Given the description of an element on the screen output the (x, y) to click on. 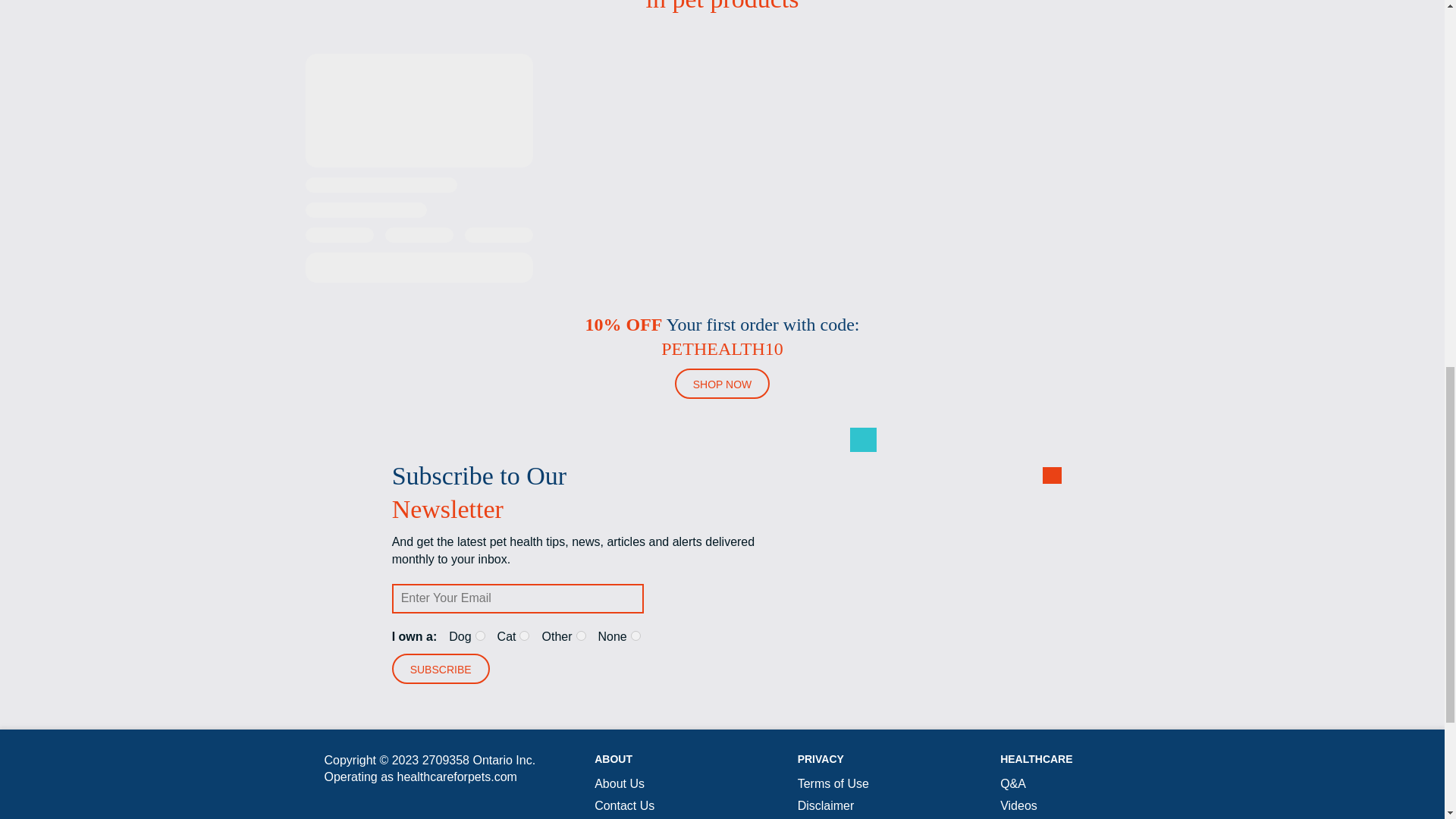
Subscribe (440, 668)
None (635, 635)
SHOP NOW (722, 383)
Other (581, 635)
Cat (524, 635)
Contact Us (623, 805)
Dog (480, 635)
Subscribe (440, 668)
About Us (619, 783)
